Given the description of an element on the screen output the (x, y) to click on. 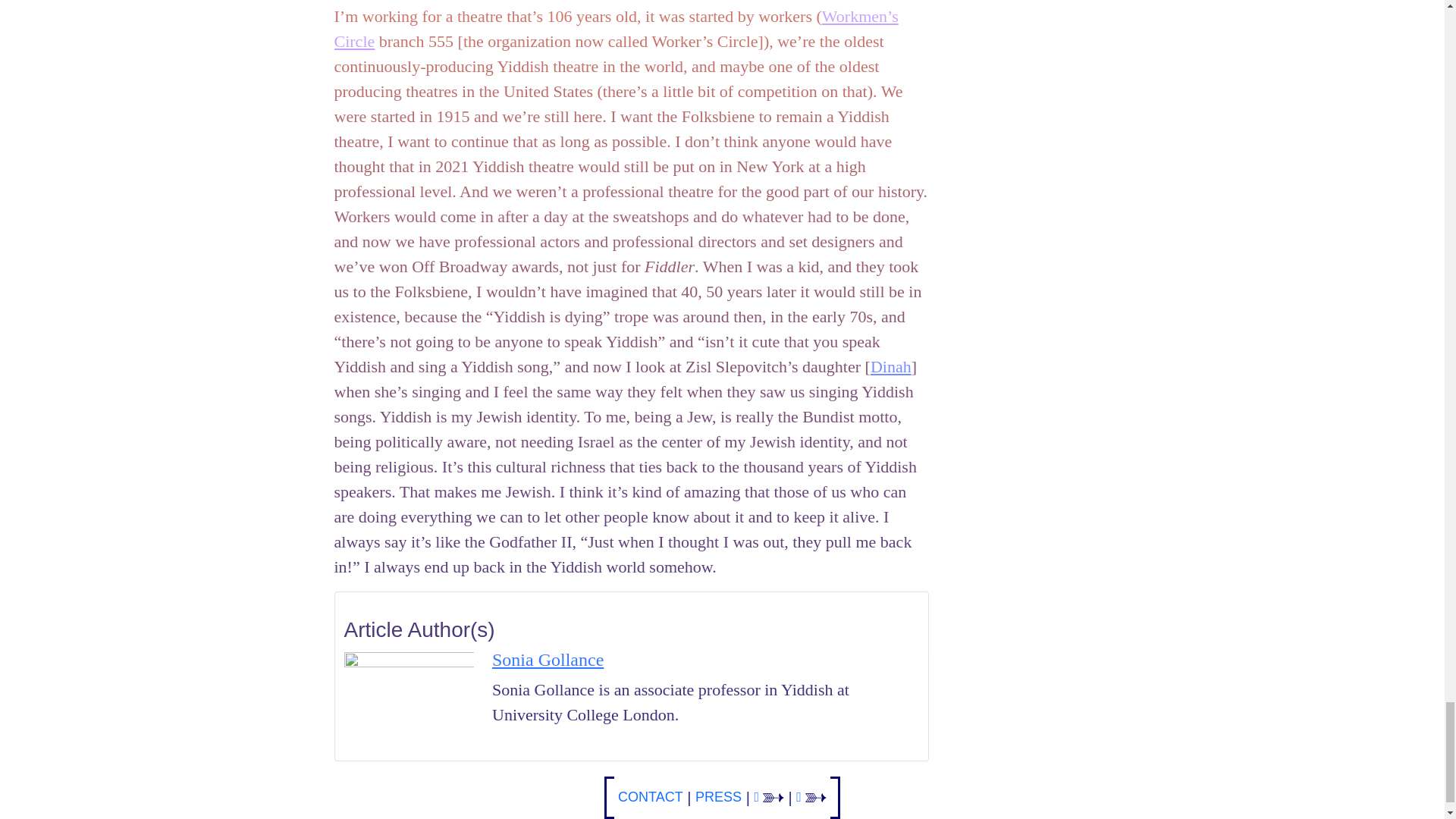
FILL 13 CREATED WITH SKETCH. (773, 797)
FILL 13 CREATED WITH SKETCH. (816, 797)
